Given the description of an element on the screen output the (x, y) to click on. 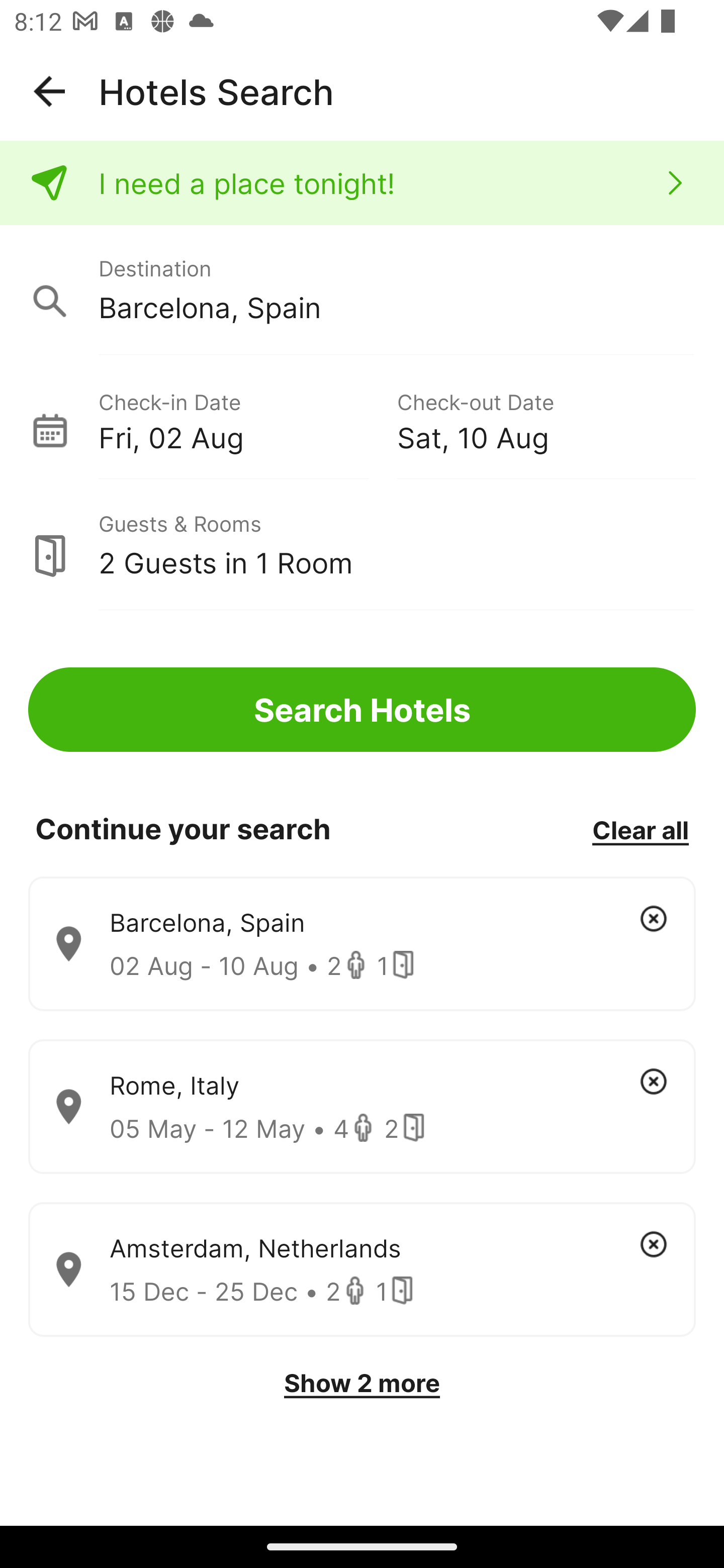
I need a place tonight! (362, 183)
Destination Barcelona, Spain (362, 290)
Check-in Date Fri, 02 Aug (247, 418)
Check-out Date Sat, 10 Aug (546, 418)
Guests & Rooms 2 Guests in 1 Room (362, 545)
Search Hotels (361, 709)
Clear all (640, 829)
Barcelona, Spain 02 Aug - 10 Aug • 2  1  (361, 943)
Rome, Italy 05 May - 12 May • 4  2  (361, 1106)
Amsterdam, Netherlands 15 Dec - 25 Dec • 2  1  (361, 1269)
Show 2 more (362, 1382)
